Given the description of an element on the screen output the (x, y) to click on. 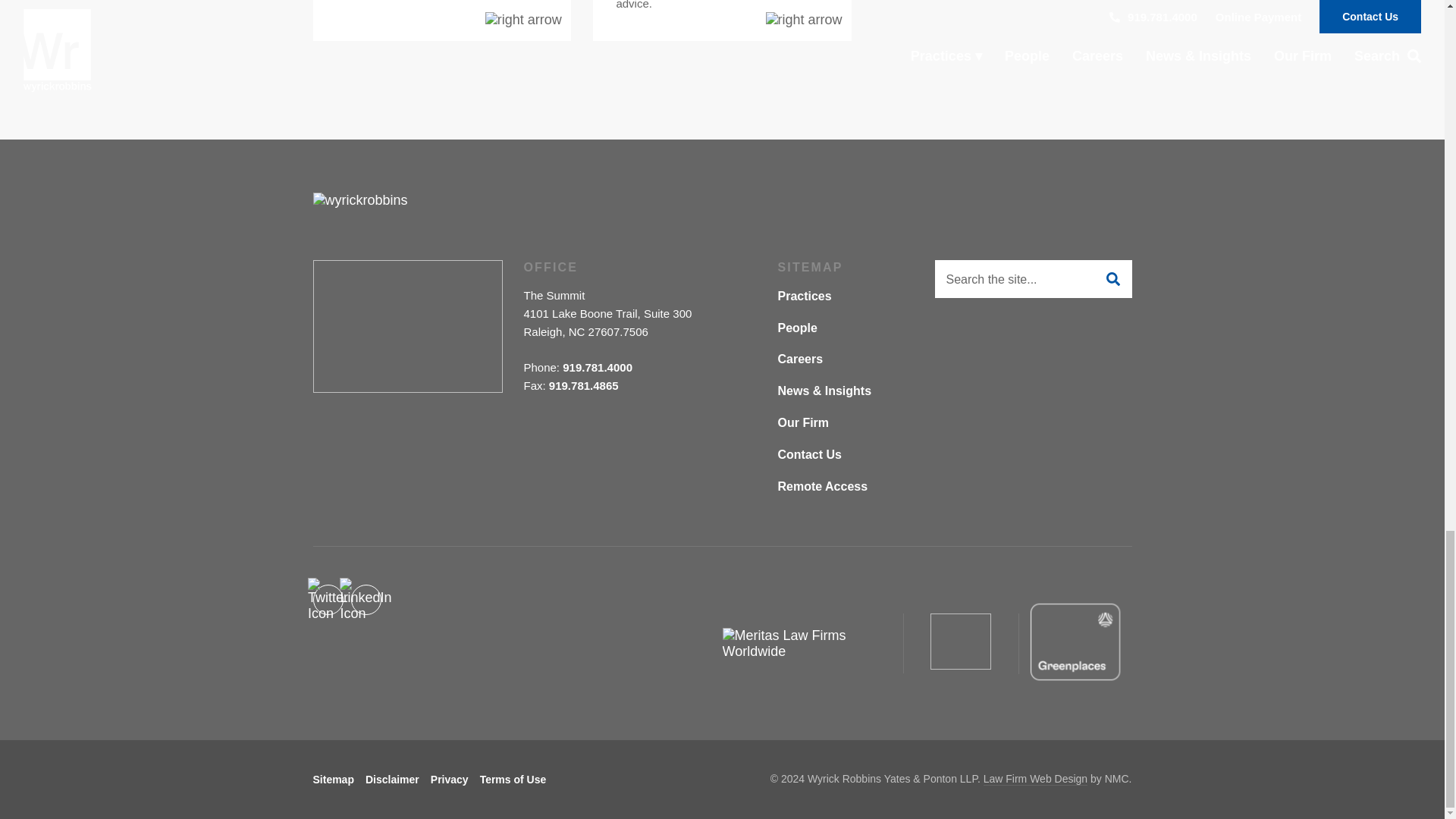
Greenplace (1074, 641)
